Given the description of an element on the screen output the (x, y) to click on. 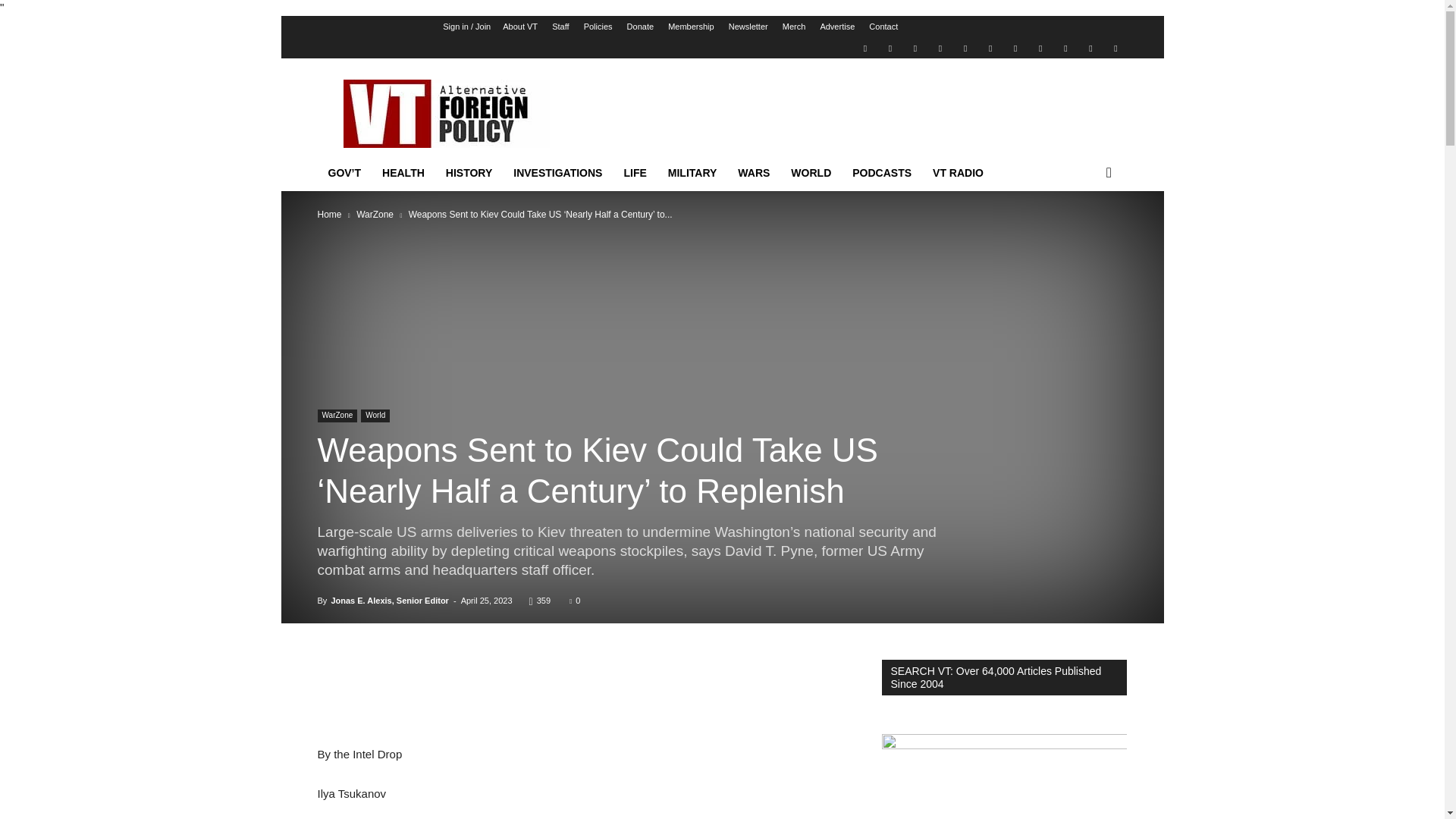
Rumble (964, 47)
Policies (597, 26)
Merch (794, 26)
Reddit (940, 47)
Facebook (890, 47)
Advertise (836, 26)
Contact (883, 26)
RSS (989, 47)
Staff (560, 26)
Newsletter (748, 26)
